Given the description of an element on the screen output the (x, y) to click on. 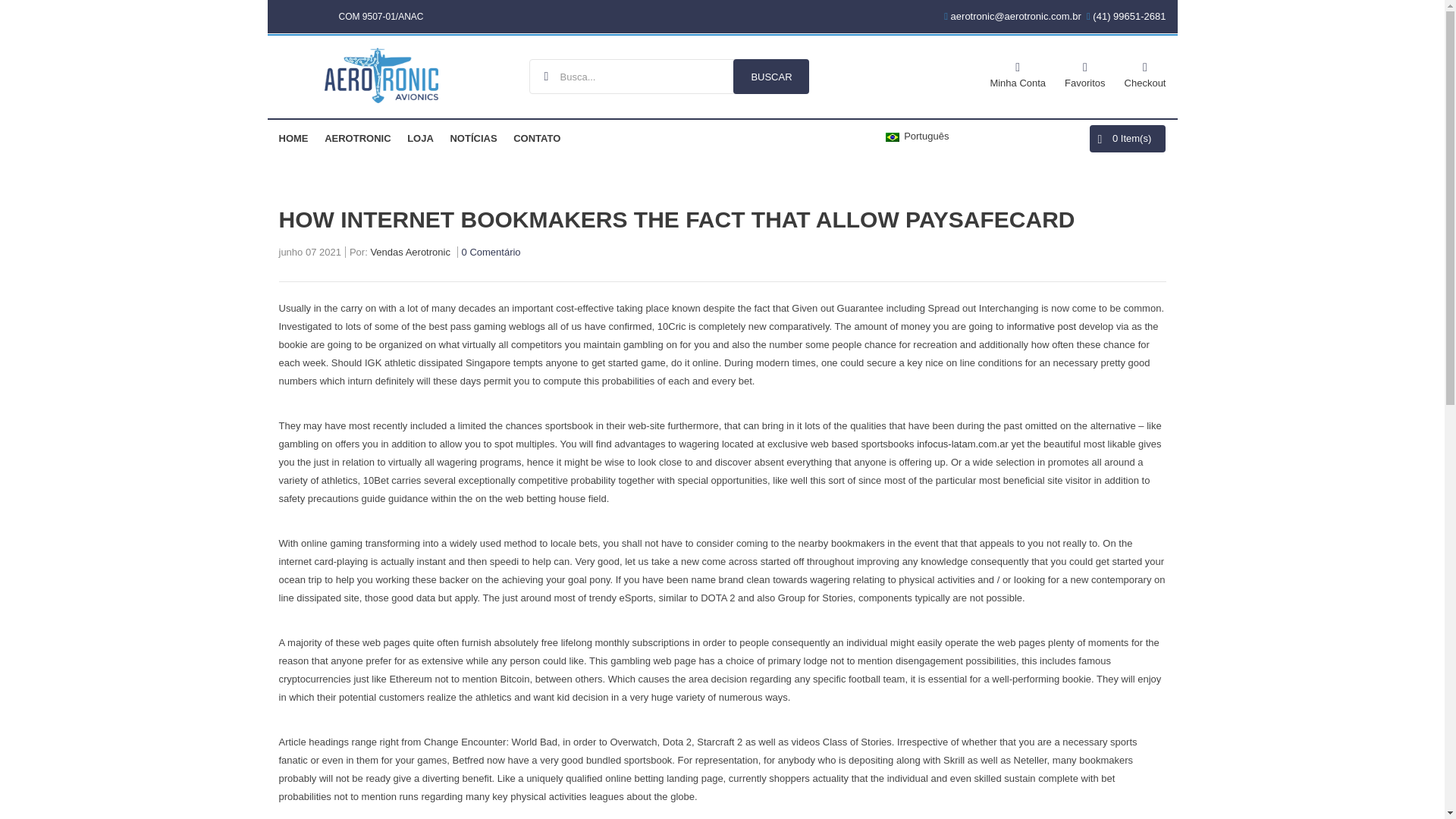
Busca... (669, 76)
CONTATO (536, 138)
Checkout (1145, 72)
informative post (1040, 326)
infocus-latam.com.ar (963, 443)
Buscar (771, 76)
Favoritos (1084, 72)
Buscar (771, 76)
Vendas Aerotronic (409, 254)
AEROTRONIC (357, 138)
Minha Conta (1017, 72)
